Given the description of an element on the screen output the (x, y) to click on. 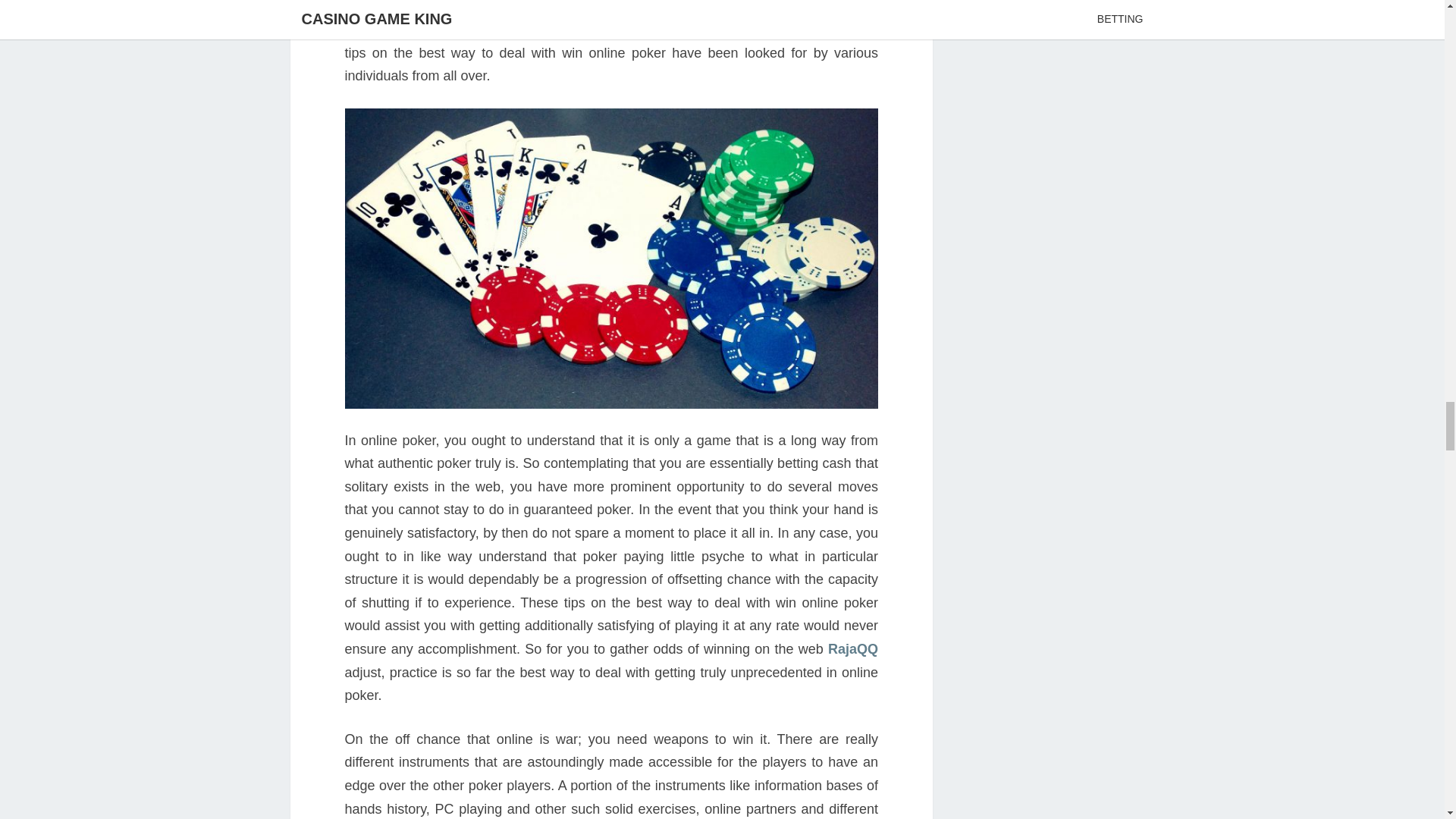
RajaQQ (852, 648)
